Given the description of an element on the screen output the (x, y) to click on. 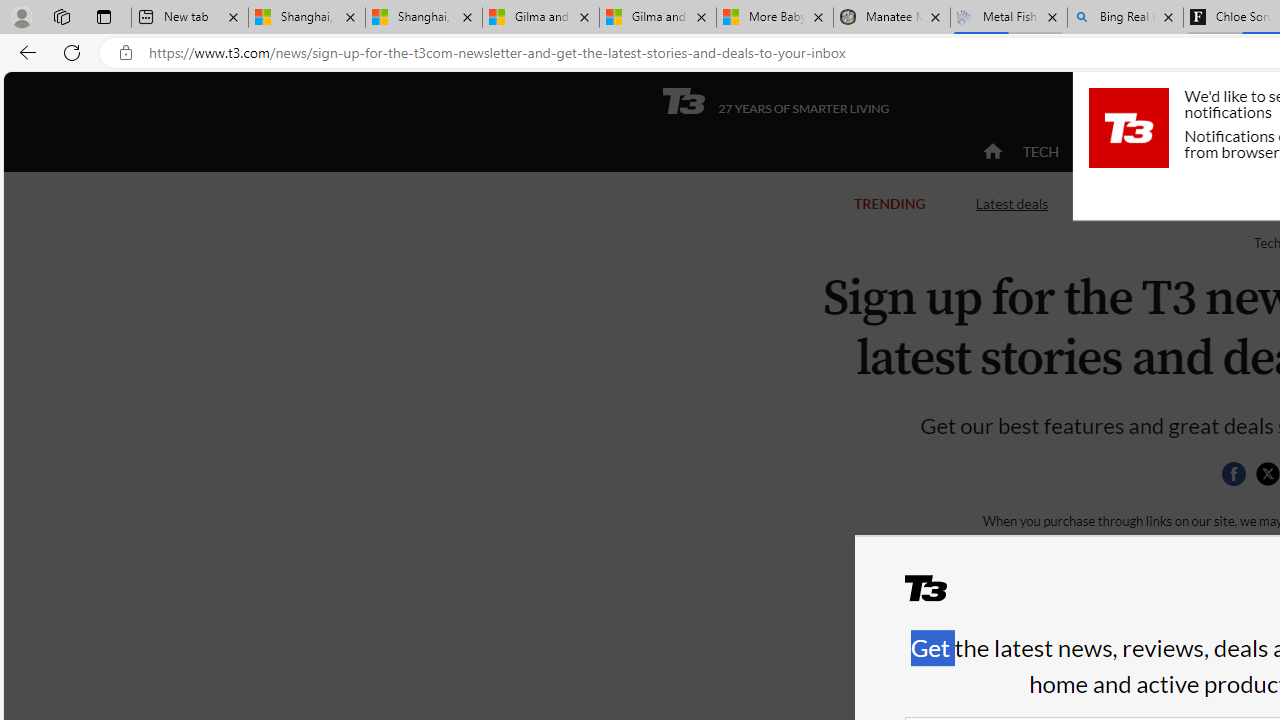
Personal Profile (21, 16)
Back to Class 2024 (1178, 202)
ACTIVE (1124, 151)
Bing Real Estate - Home sales and rental listings (1124, 17)
Shanghai, China weather forecast | Microsoft Weather (424, 17)
Close tab (1168, 16)
TECH (1040, 151)
View site information (125, 53)
T3 27 YEARS OF SMARTER LIVING (775, 101)
Share this page on Twitter (1267, 474)
ACTIVE (1124, 151)
Latest deals (1011, 204)
TECH (1040, 151)
Class: social__item (1238, 477)
Latest deals (1011, 202)
